Given the description of an element on the screen output the (x, y) to click on. 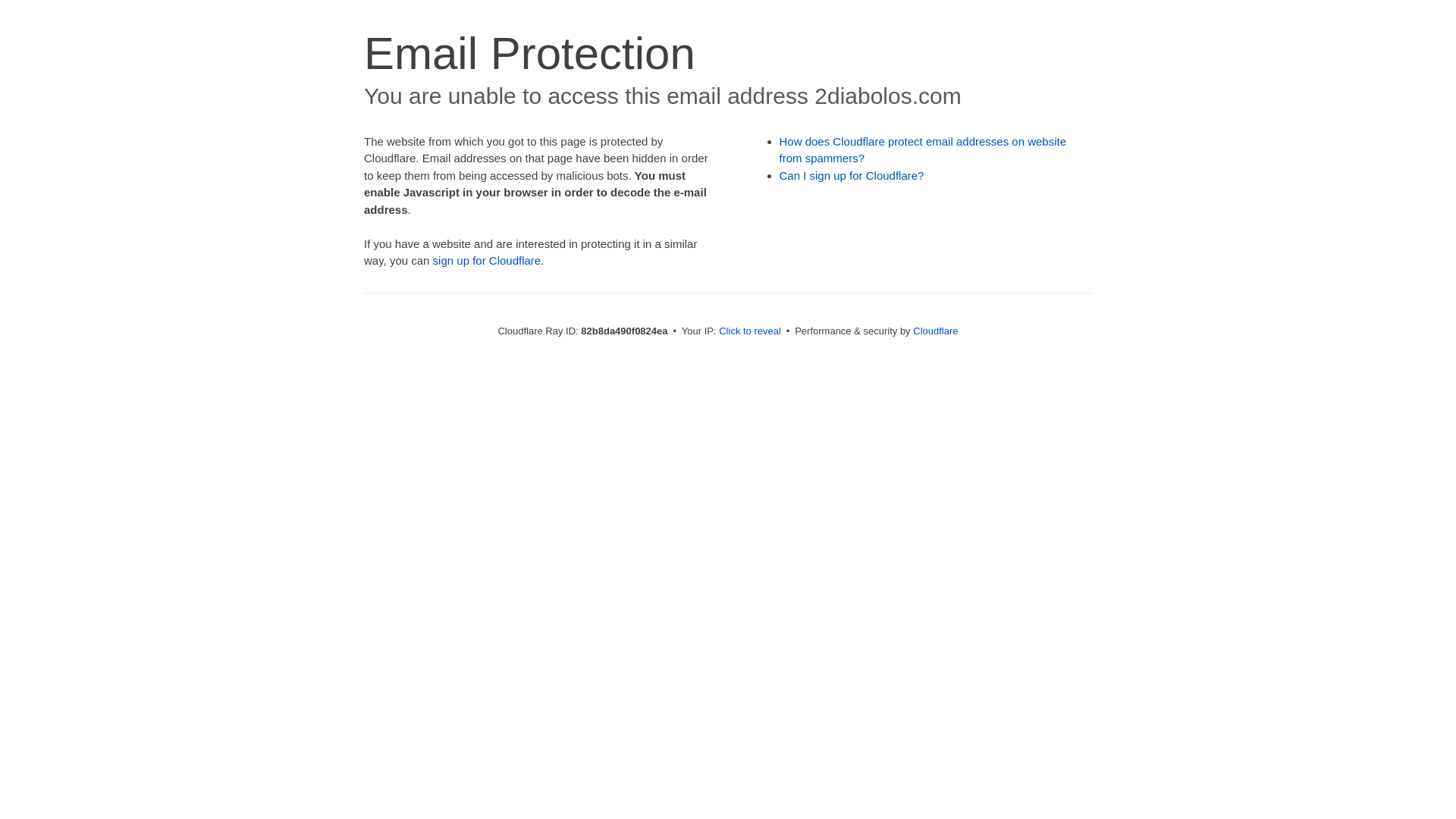
Cloudflare Element type: text (935, 330)
Can I sign up for Cloudflare? Element type: text (851, 175)
sign up for Cloudflare Element type: text (487, 260)
Click to reveal Element type: text (749, 330)
